Given the description of an element on the screen output the (x, y) to click on. 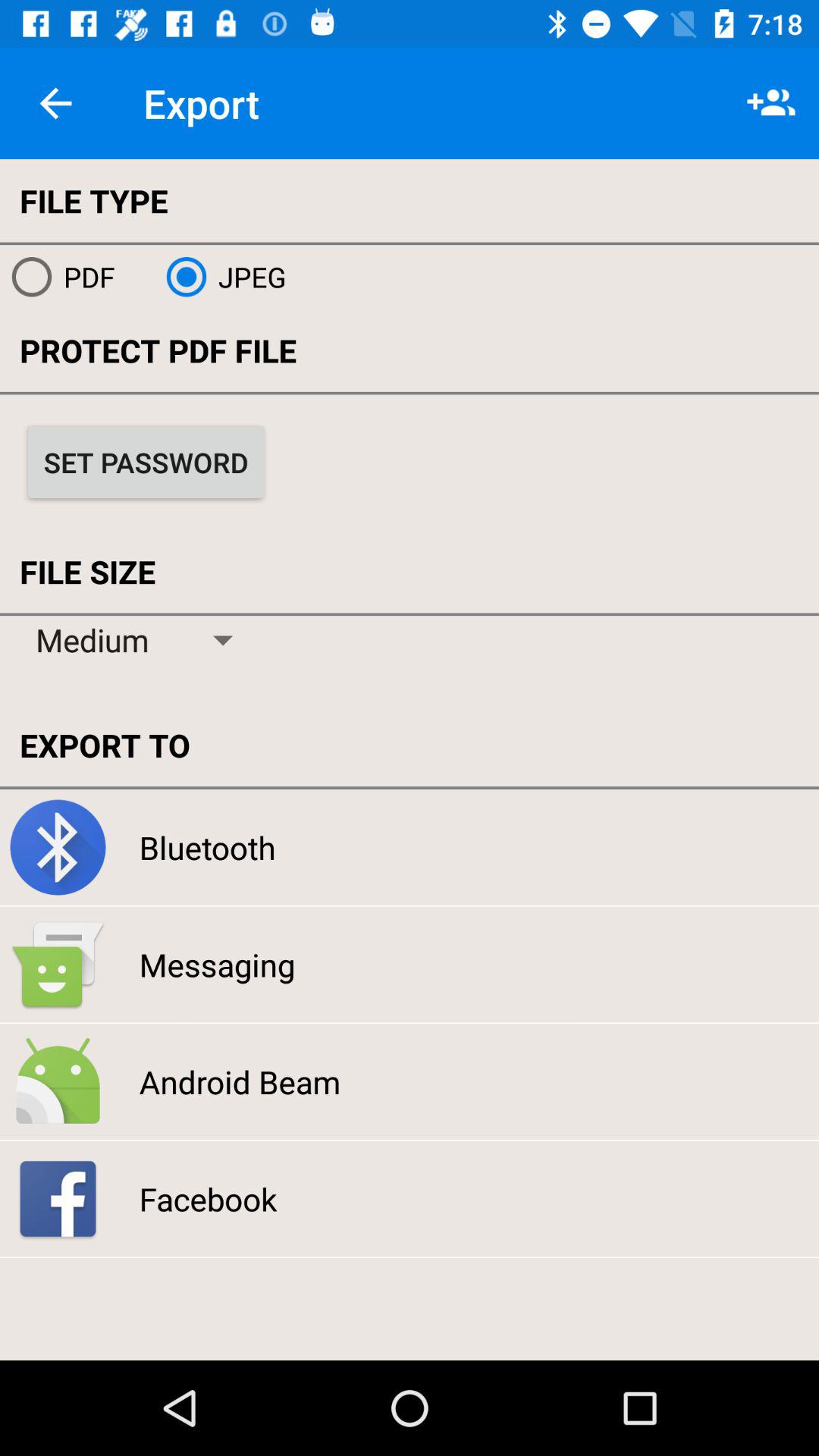
select the item above the file size item (145, 462)
